Given the description of an element on the screen output the (x, y) to click on. 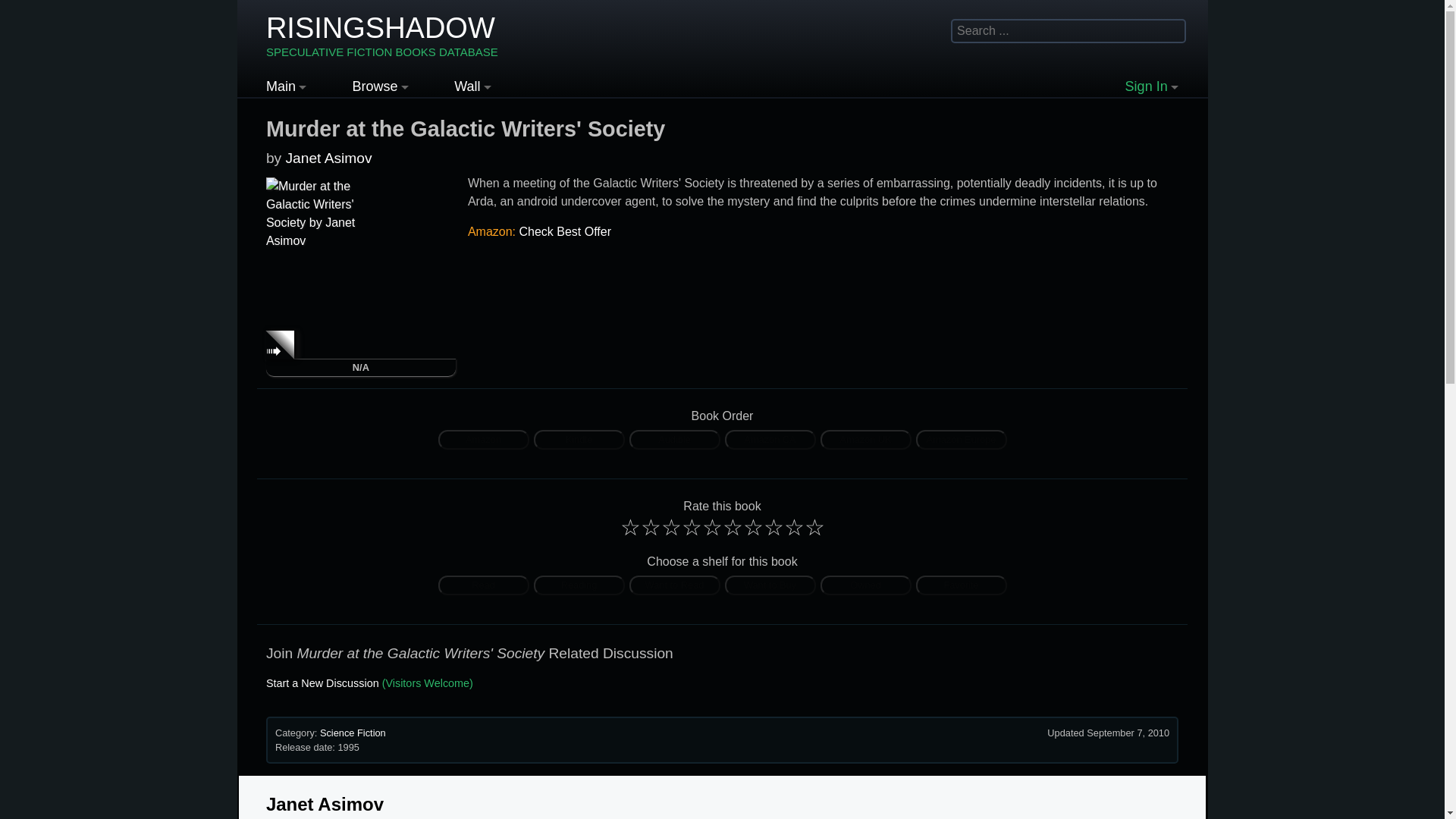
Janet Asimov (328, 157)
Amazon CA (769, 438)
Owned (866, 585)
Owned (866, 585)
Kindle (579, 439)
Want to Buy (770, 585)
Kindle (381, 36)
Science Fiction (578, 438)
Risingshadow (352, 732)
Audible (381, 36)
Want to Read (674, 438)
Amazon (674, 585)
Reading (483, 438)
Amazon UK (579, 585)
